Given the description of an element on the screen output the (x, y) to click on. 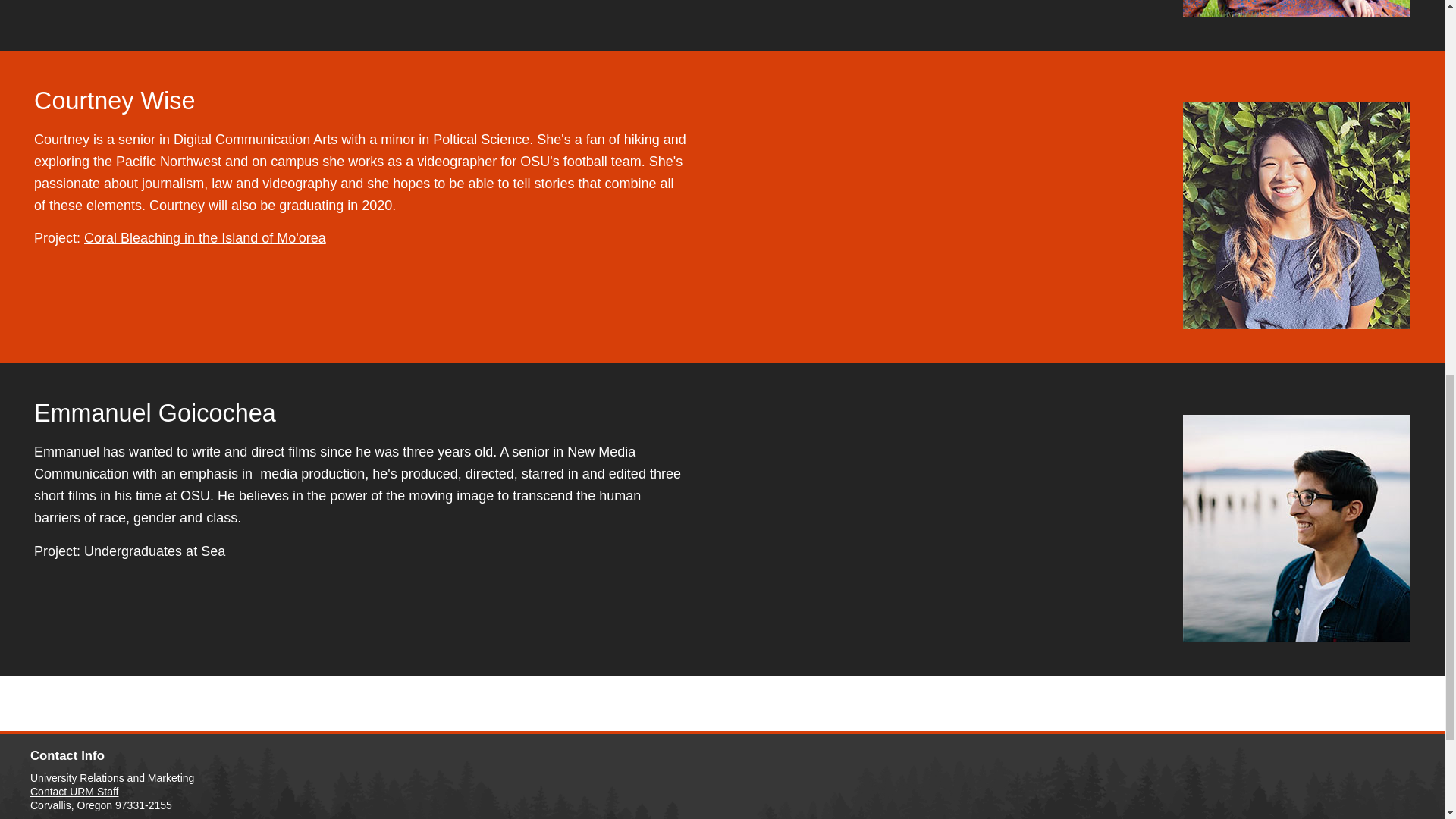
Coral Bleaching in the Island of Mo'orea (205, 237)
